Given the description of an element on the screen output the (x, y) to click on. 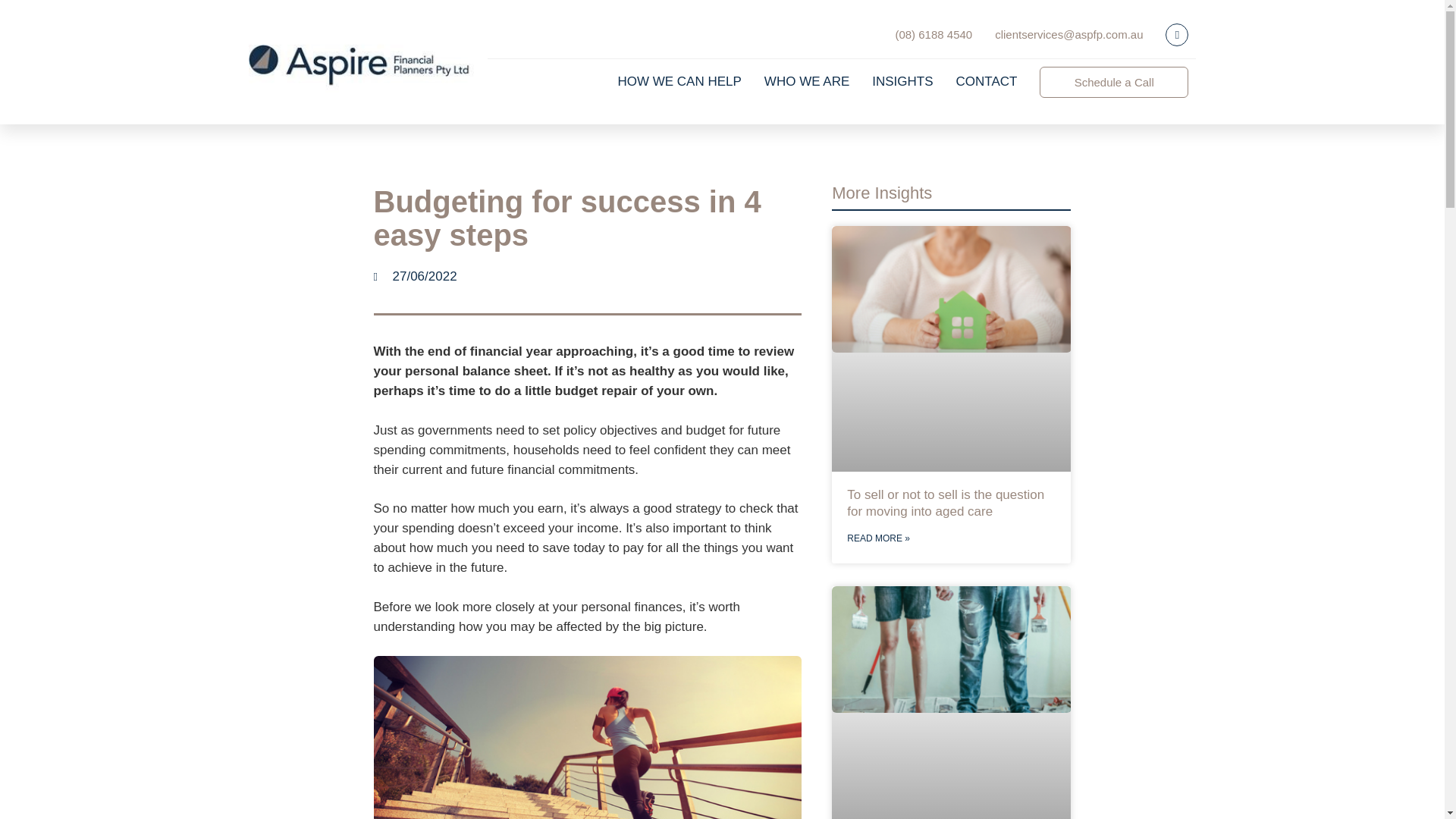
Schedule a Call (1113, 81)
HOW WE CAN HELP (679, 81)
CONTACT (987, 81)
WHO WE ARE (807, 81)
INSIGHTS (902, 81)
